Given the description of an element on the screen output the (x, y) to click on. 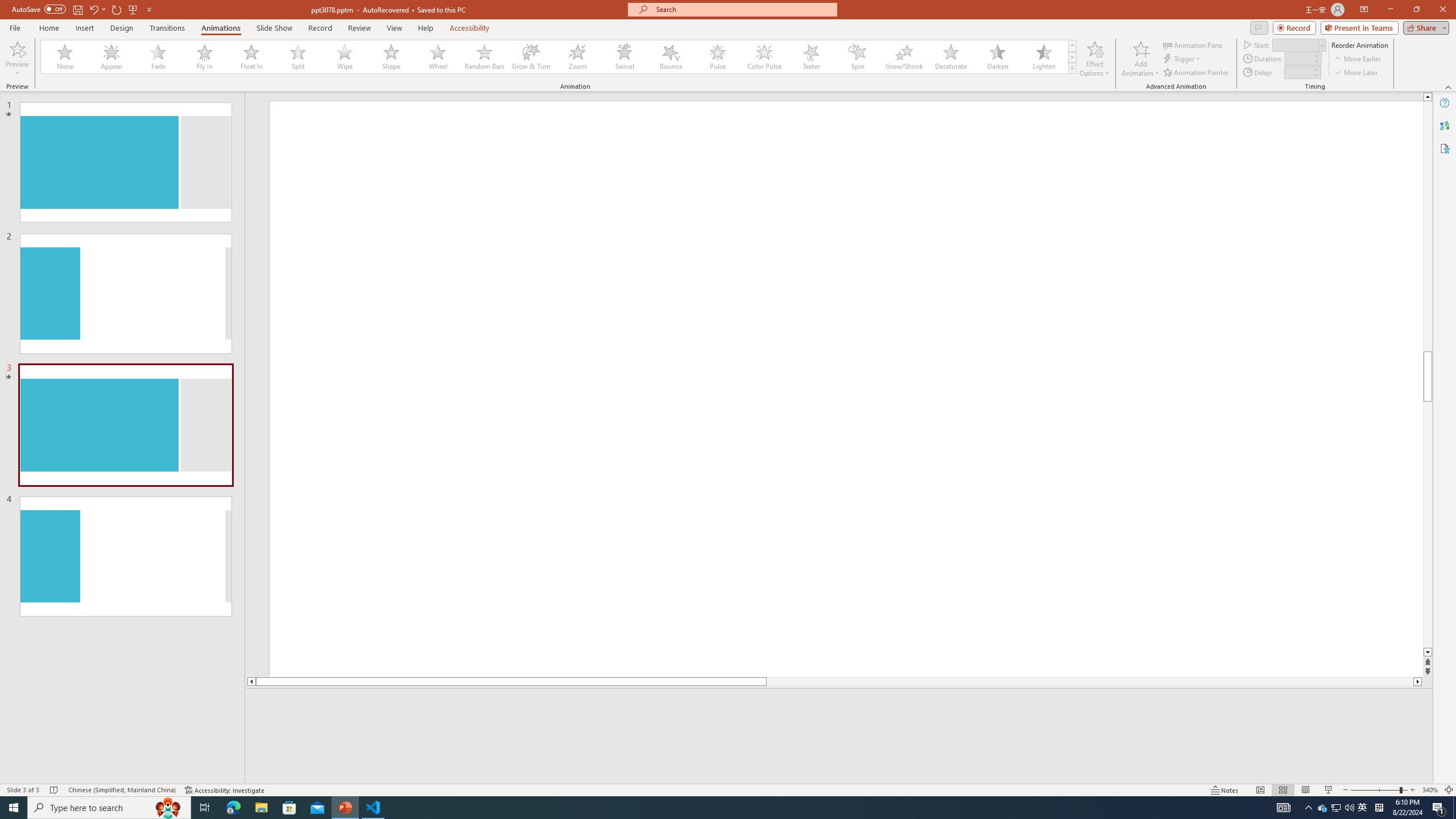
Translator (1444, 125)
Line down (1427, 652)
Zoom 340% (1430, 790)
AutomationID: AnimationGallery (558, 56)
Pulse (717, 56)
Grow & Turn (531, 56)
Bounce (670, 56)
